Given the description of an element on the screen output the (x, y) to click on. 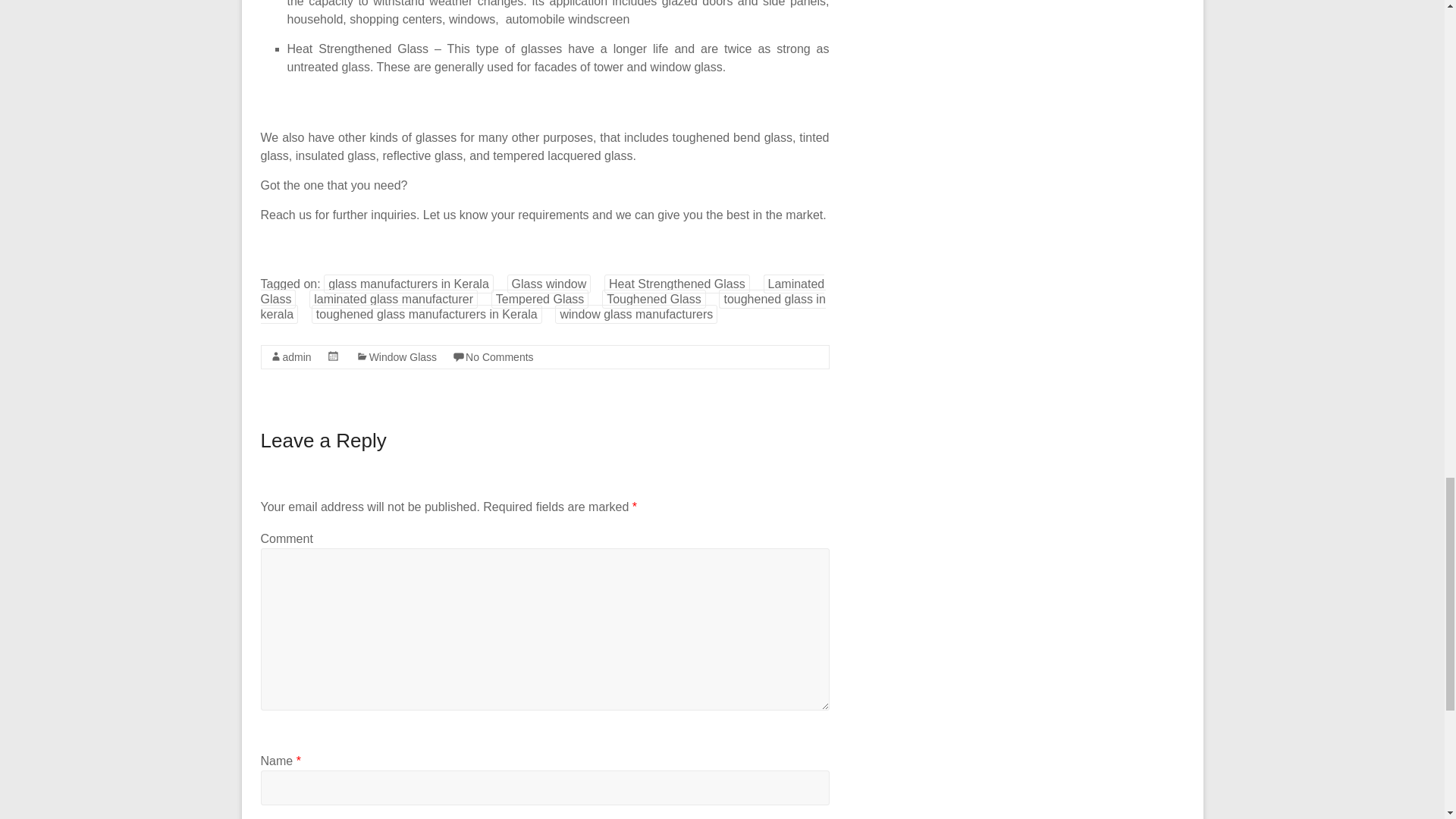
toughened glass in kerala (542, 306)
Heat Strengthened Glass (676, 283)
Tempered Glass (540, 298)
Glass window (548, 283)
Window Glass (402, 357)
glass manufacturers in Kerala (408, 283)
laminated glass manufacturer (392, 298)
Laminated Glass (542, 291)
Toughened Glass (654, 298)
toughened glass manufacturers in Kerala (426, 313)
No Comments (498, 357)
window glass manufacturers (635, 313)
admin (296, 357)
